Given the description of an element on the screen output the (x, y) to click on. 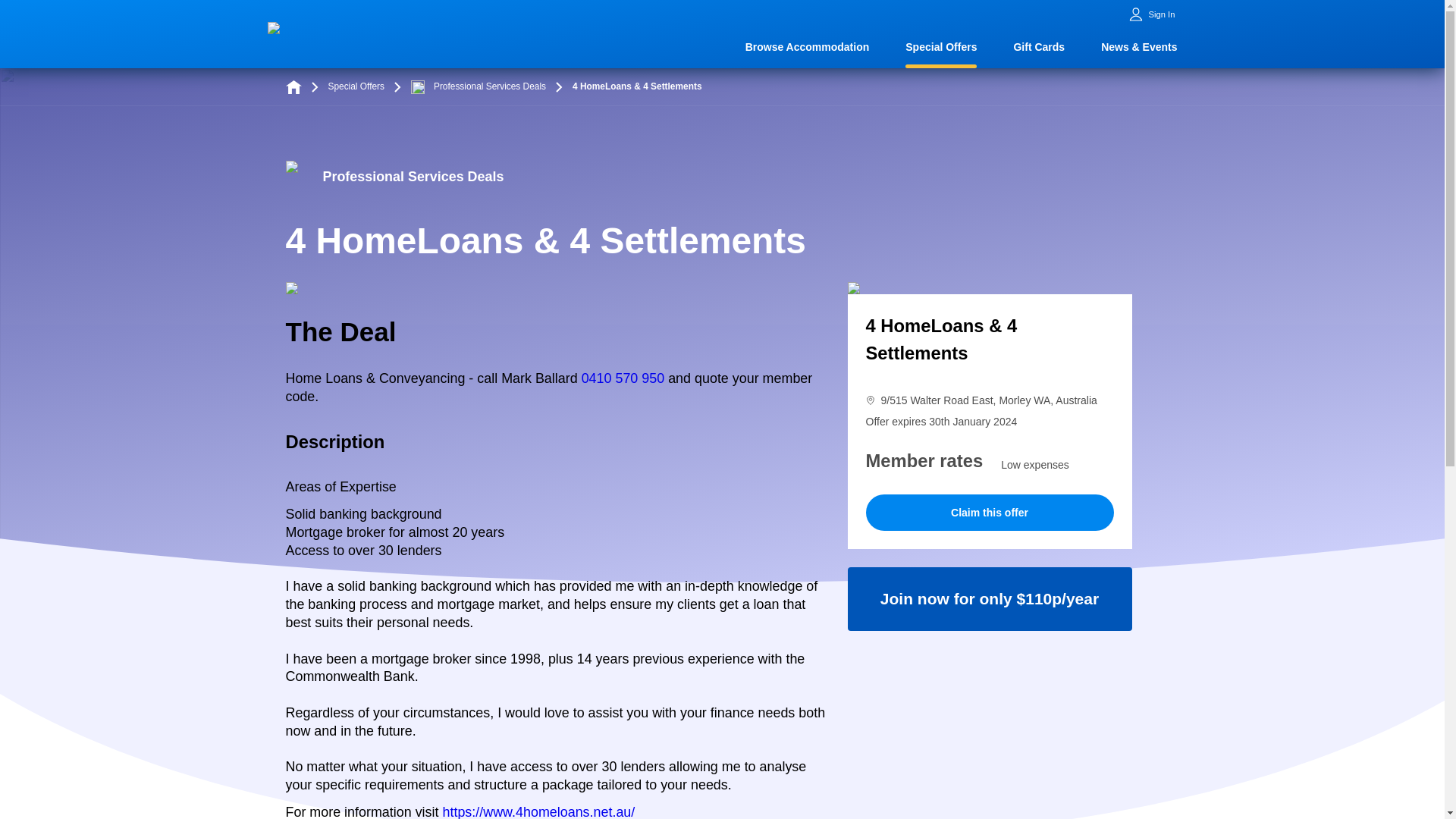
Gift Cards Element type: text (1038, 48)
Special Offers Element type: text (355, 86)
Special Offers Element type: text (940, 48)
News & Events Element type: text (1138, 48)
Claim this offer Element type: text (989, 512)
Sign In Element type: text (1161, 14)
Professional Services Deals Element type: text (478, 87)
0410 570 950 Element type: text (623, 377)
Browse Accommodation Element type: text (807, 48)
